Given the description of an element on the screen output the (x, y) to click on. 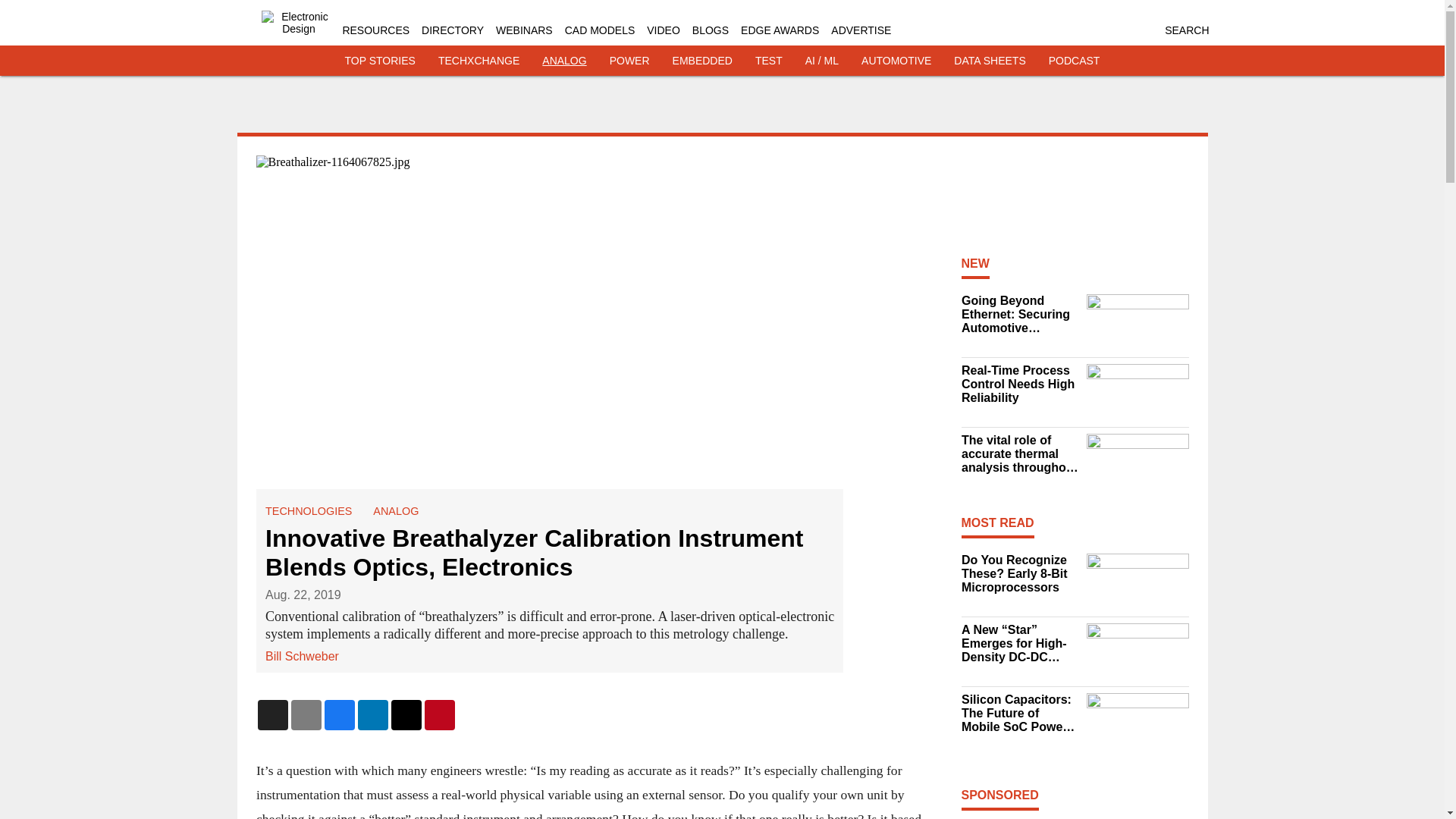
TECHNOLOGIES (308, 510)
WEBINARS (524, 30)
POWER (629, 60)
VIDEO (662, 30)
TECHXCHANGE (478, 60)
Bill Schweber (301, 655)
AUTOMOTIVE (896, 60)
ANALOG (563, 60)
ADVERTISE (861, 30)
EMBEDDED (702, 60)
